Given the description of an element on the screen output the (x, y) to click on. 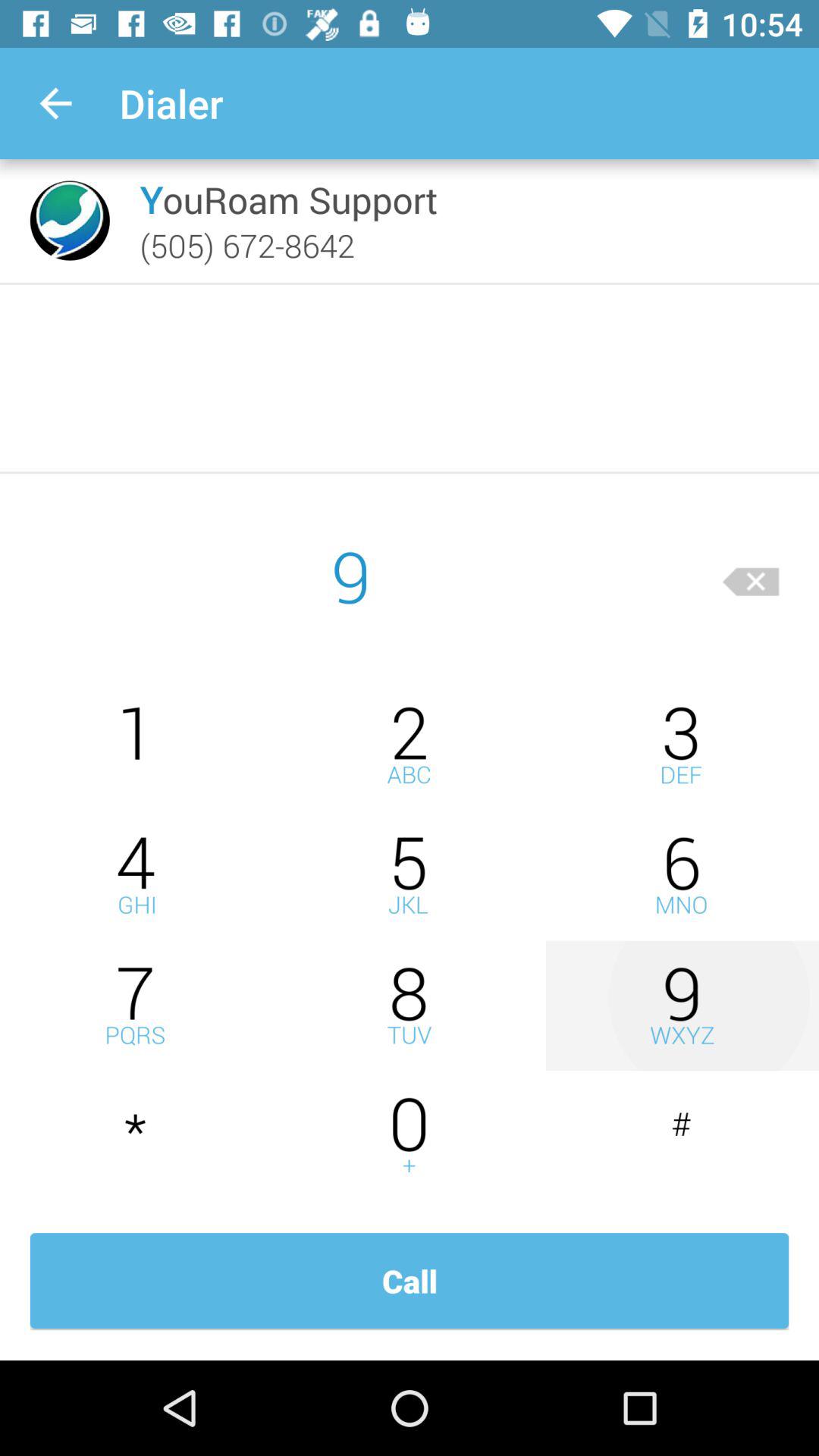
select number zero (409, 1135)
